Given the description of an element on the screen output the (x, y) to click on. 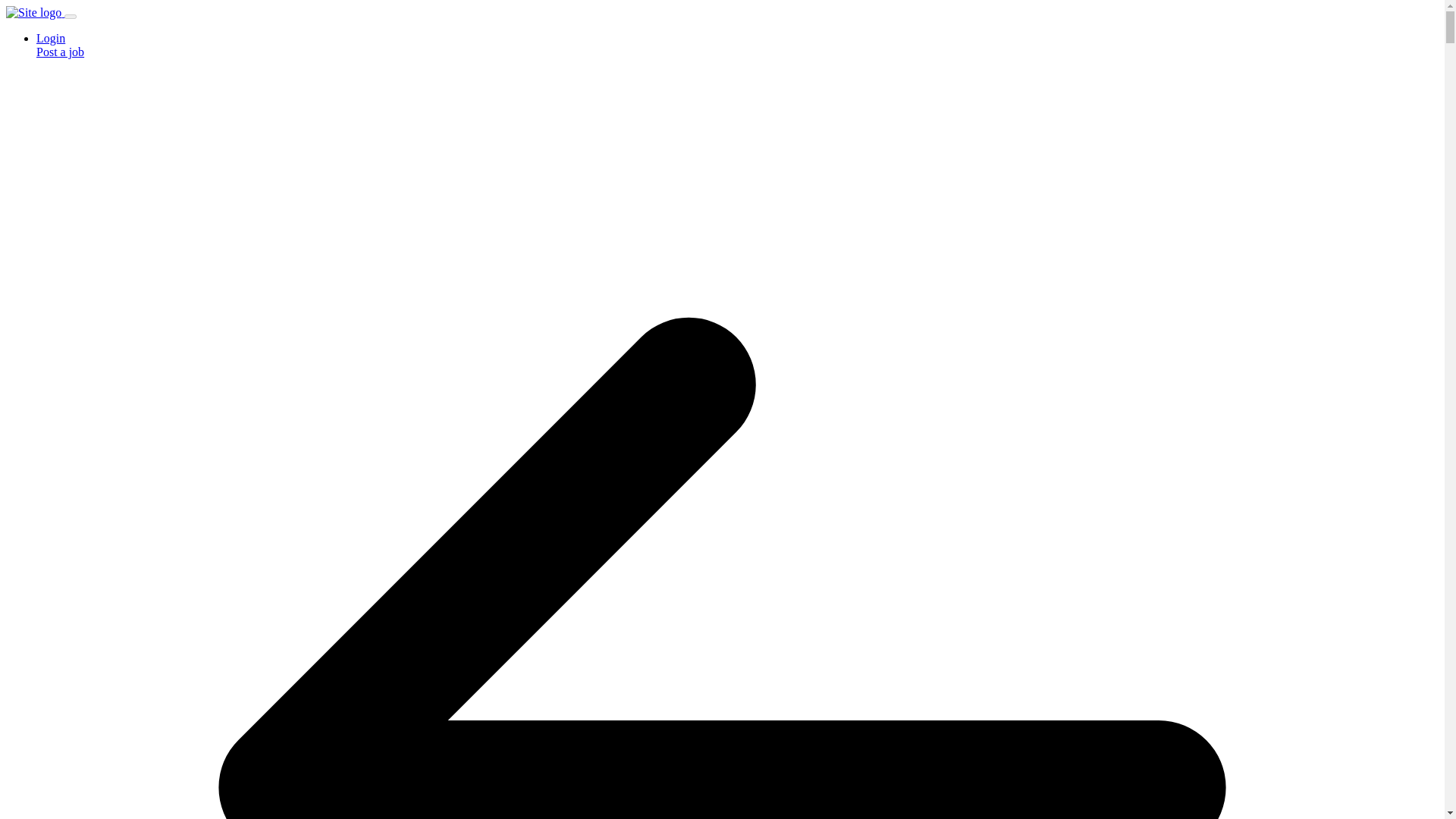
Post a job (60, 51)
Uhiring (33, 12)
Login (50, 38)
